Given the description of an element on the screen output the (x, y) to click on. 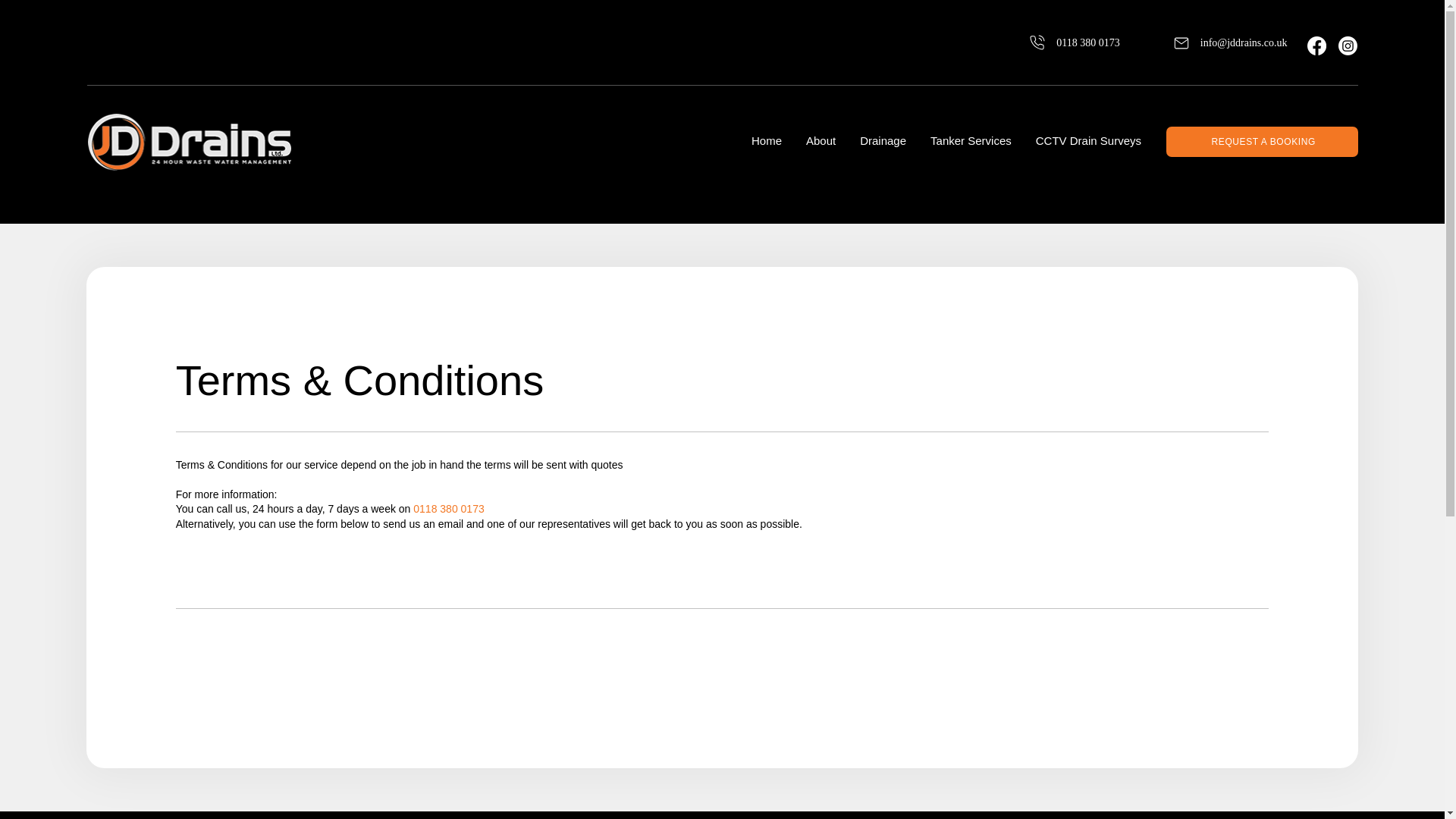
Tanker Services (970, 140)
REQUEST A BOOKING (1262, 141)
CCTV Drain Surveys (1088, 140)
Home (766, 140)
0118 380 0173 (1055, 42)
About (820, 140)
Drainage (882, 140)
